Given the description of an element on the screen output the (x, y) to click on. 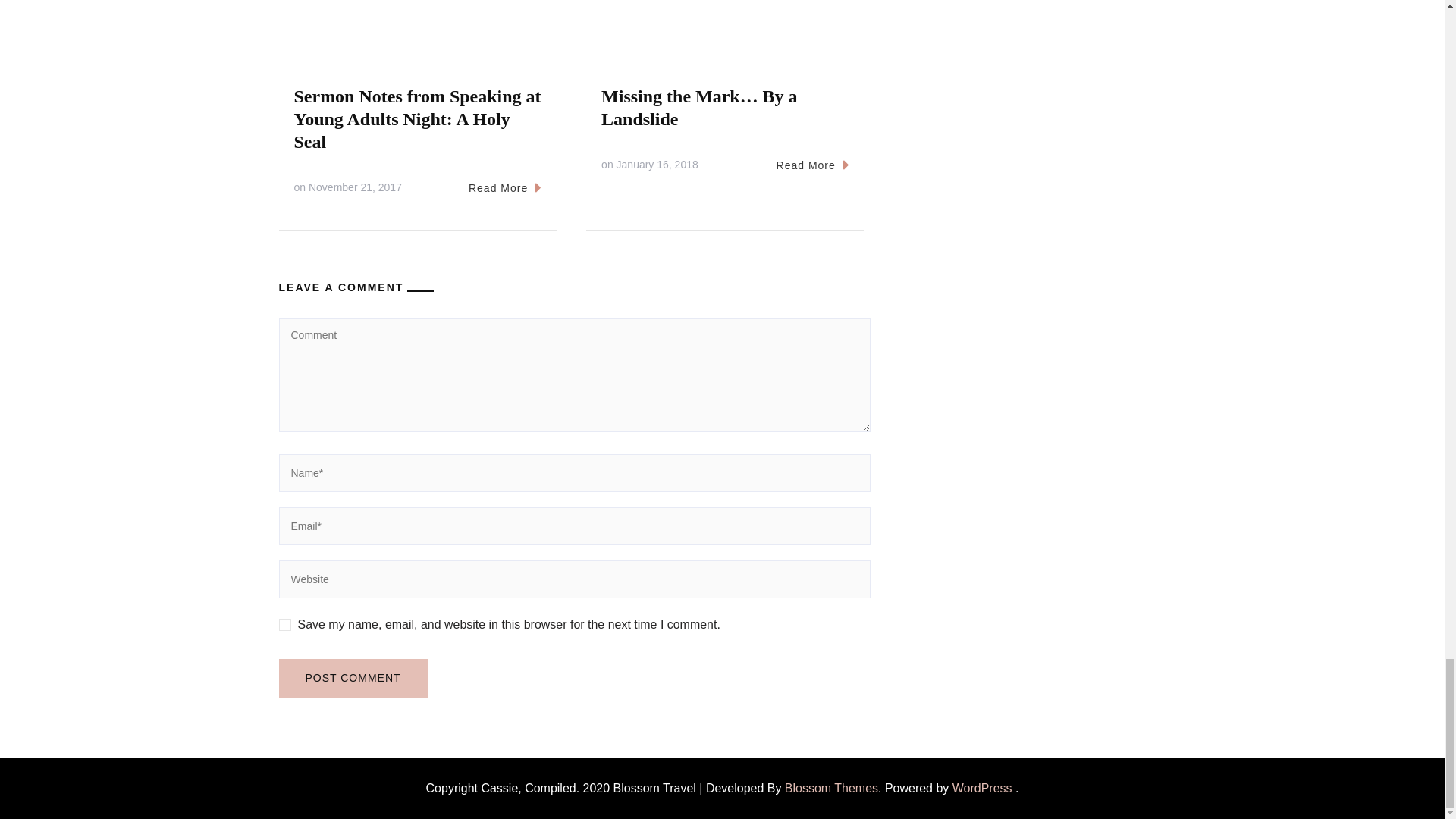
Post Comment (353, 678)
